Given the description of an element on the screen output the (x, y) to click on. 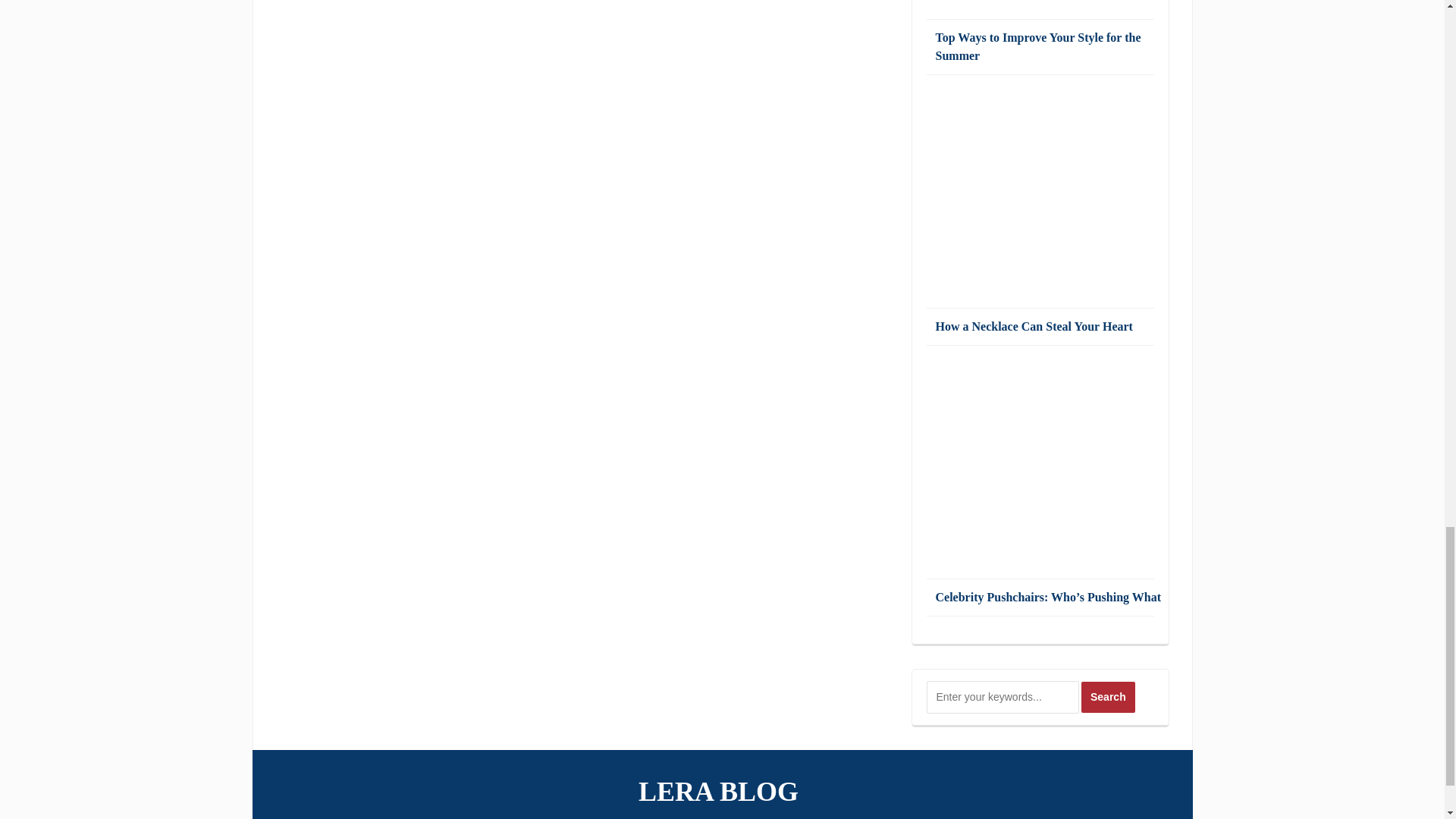
Search (1108, 696)
Search (1108, 696)
